Given the description of an element on the screen output the (x, y) to click on. 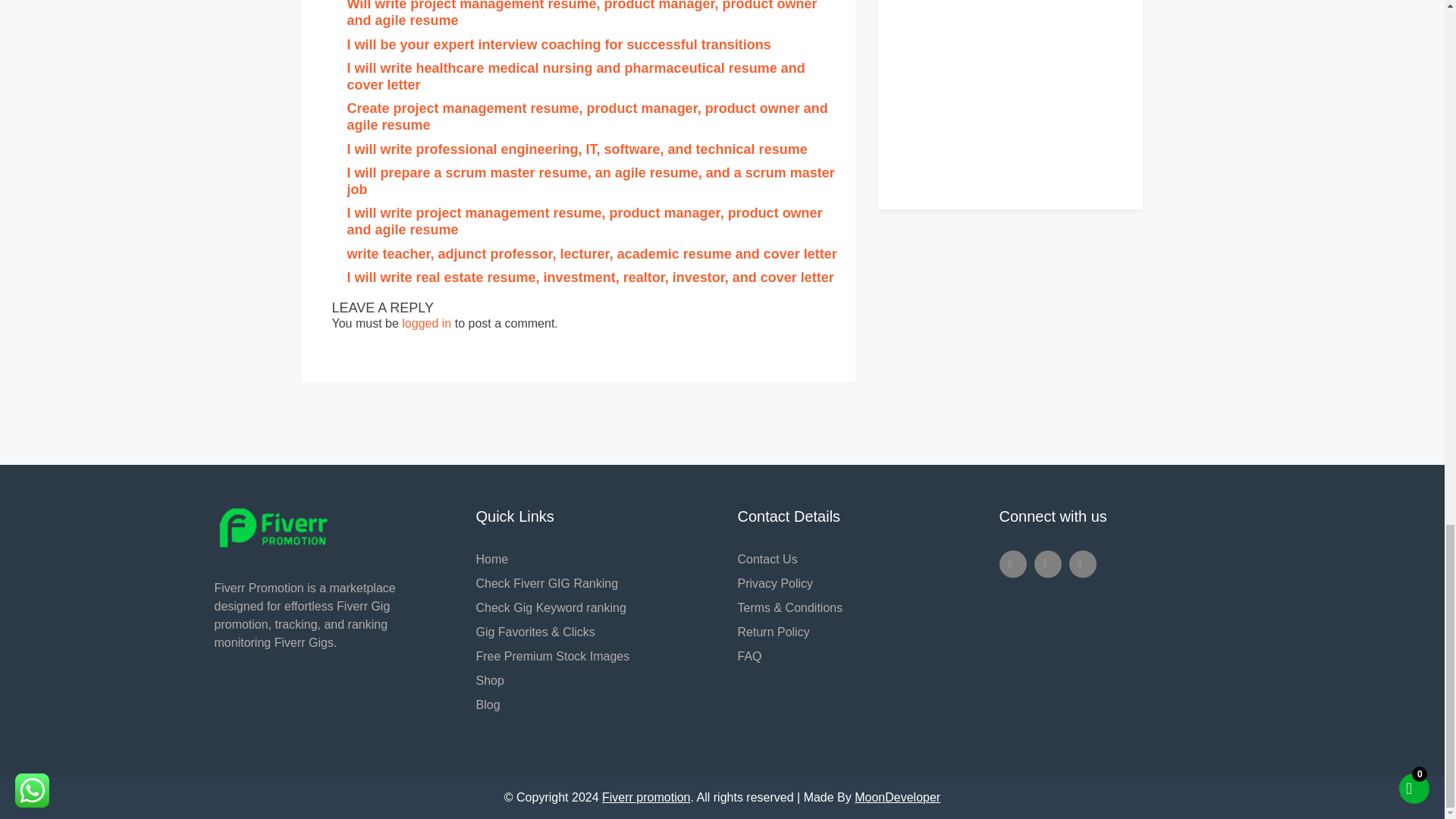
Advertisement (1011, 85)
